Given the description of an element on the screen output the (x, y) to click on. 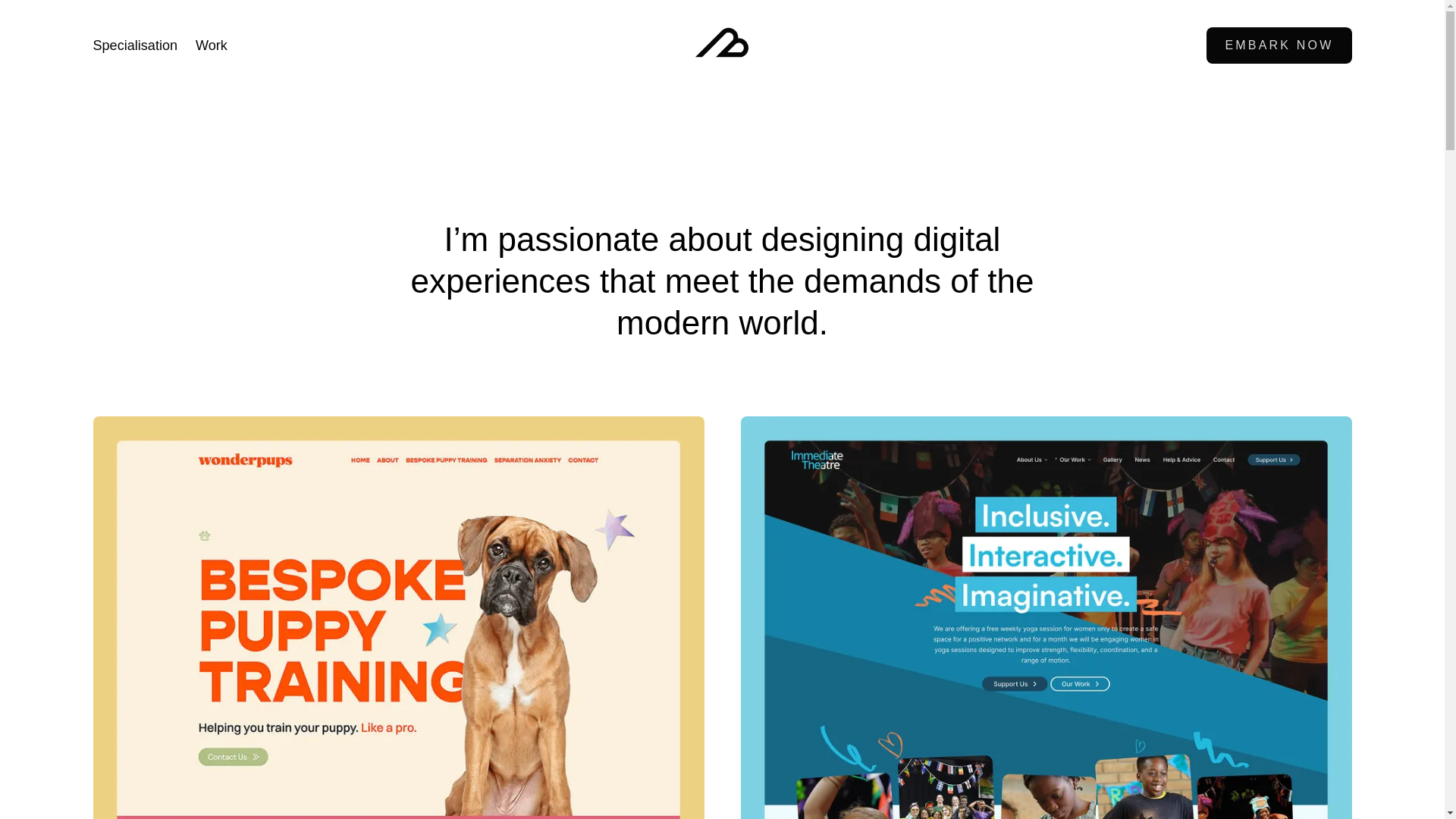
Specialisation (135, 45)
EMBARK NOW (1279, 45)
BEGIN YOUR JOURNEY (721, 512)
Work (211, 45)
